Given the description of an element on the screen output the (x, y) to click on. 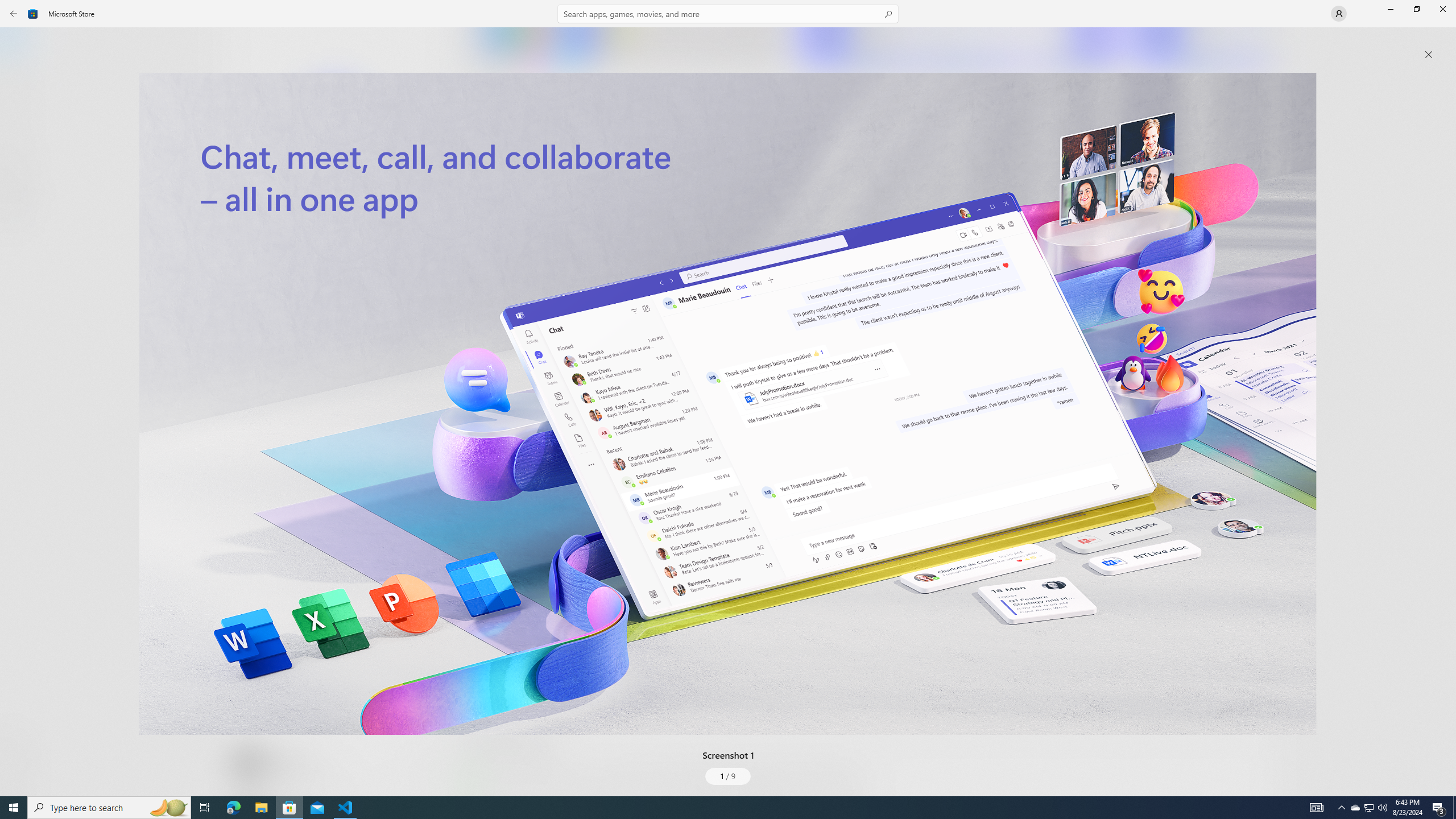
2.6 stars. Click to skip to ratings and reviews (307, 309)
Screenshot 1 (727, 403)
Close Microsoft Store (1442, 9)
Class: Image (727, 403)
Screenshot 3 (1201, 46)
Share (424, 769)
Arcade (20, 150)
Show more (485, 793)
AutomationID: NavigationControl (728, 398)
Search (727, 13)
User profile (1338, 13)
Sign in to review (501, 379)
What's New (20, 738)
Show all ratings and reviews (477, 527)
Show less (482, 703)
